Given the description of an element on the screen output the (x, y) to click on. 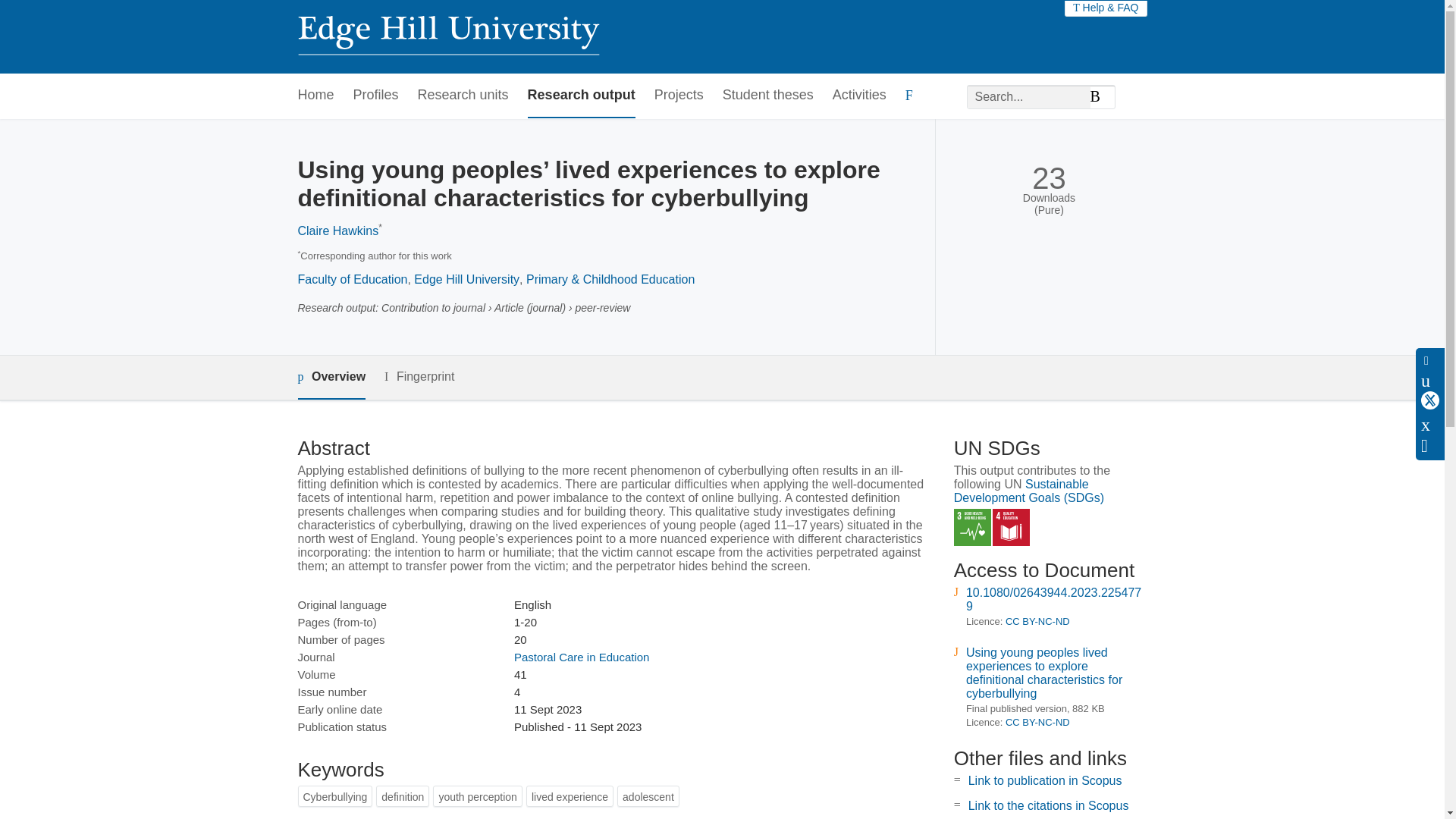
Link to the citations in Scopus (1048, 805)
Claire Hawkins (337, 230)
Research output (580, 95)
Edge Hill University Home (447, 36)
Fingerprint (419, 376)
SDG 3 - Good Health and Well-being (972, 527)
Profiles (375, 95)
Activities (859, 95)
CC BY-NC-ND (1038, 621)
Edge Hill University (466, 278)
